Given the description of an element on the screen output the (x, y) to click on. 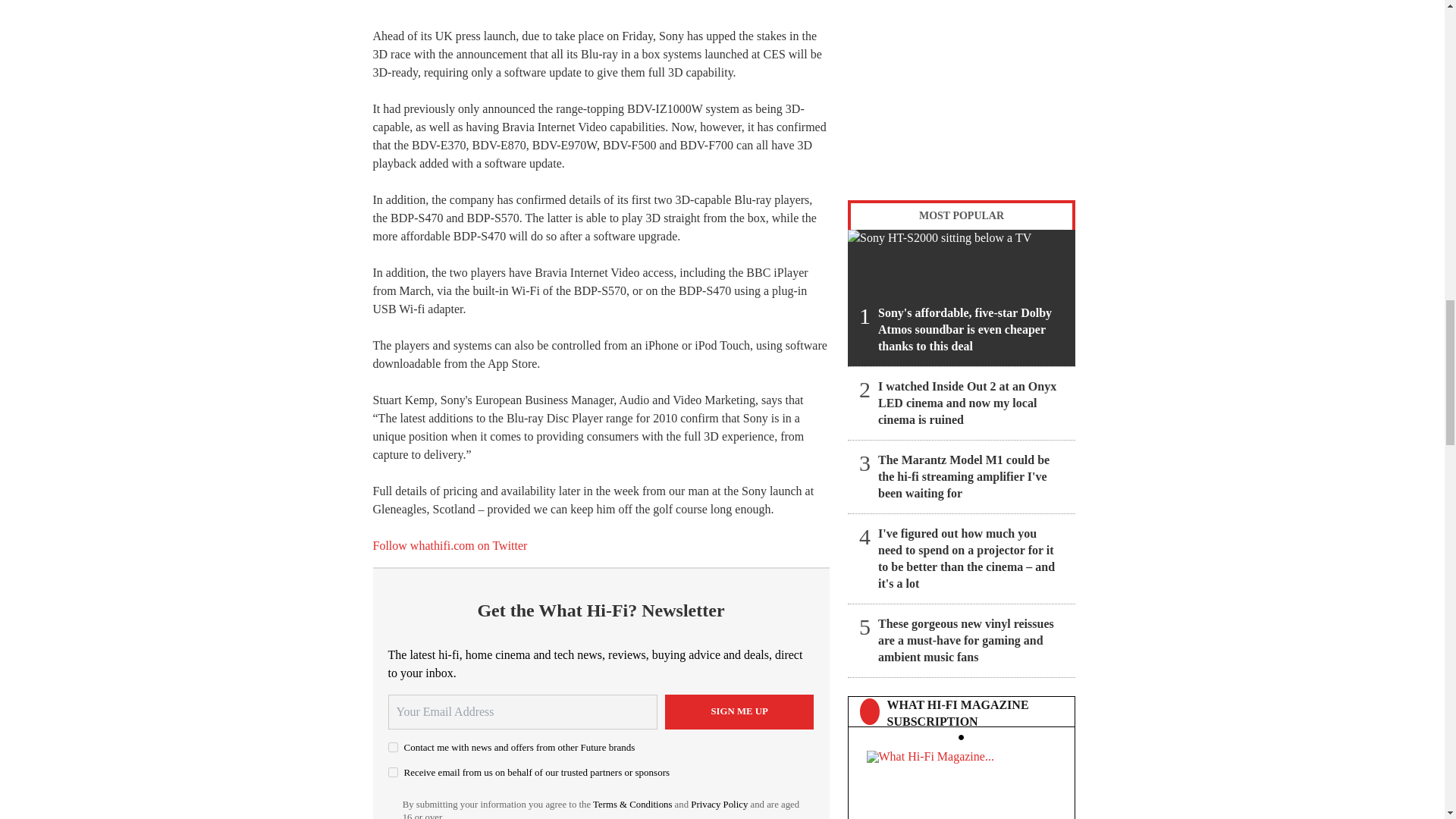
Sign me up (739, 711)
What Hi-Fi Magazine... (960, 780)
on (392, 747)
on (392, 772)
